Given the description of an element on the screen output the (x, y) to click on. 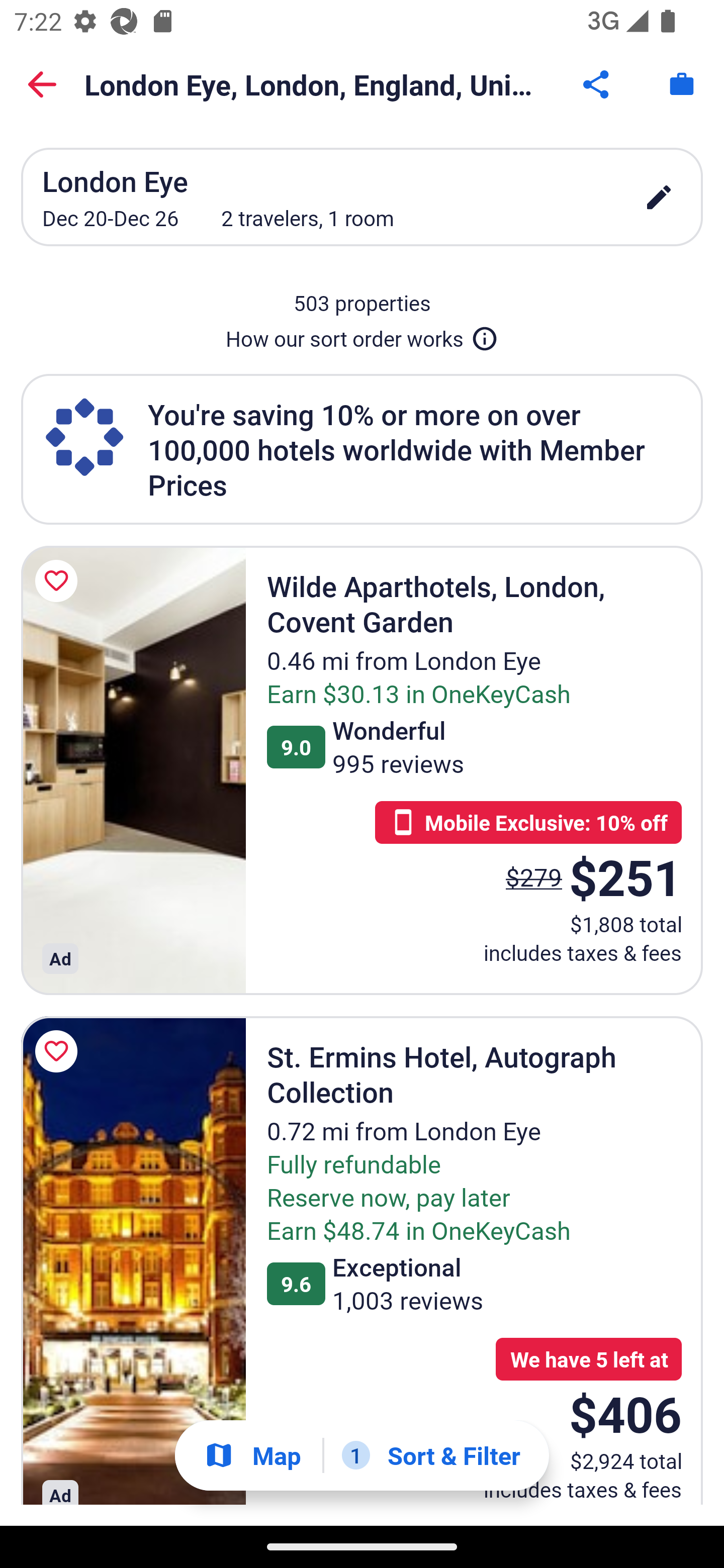
Back (42, 84)
Share Button (597, 84)
Trips. Button (681, 84)
London Eye Dec 20-Dec 26 2 travelers, 1 room edit (361, 196)
How our sort order works (361, 334)
Wilde Aparthotels, London, Covent Garden (133, 770)
$279 The price was $279 (533, 876)
St. Ermins Hotel, Autograph Collection (133, 1260)
1 Sort & Filter 1 Filter applied. Filters Button (430, 1455)
Show map Map Show map Button (252, 1455)
